Given the description of an element on the screen output the (x, y) to click on. 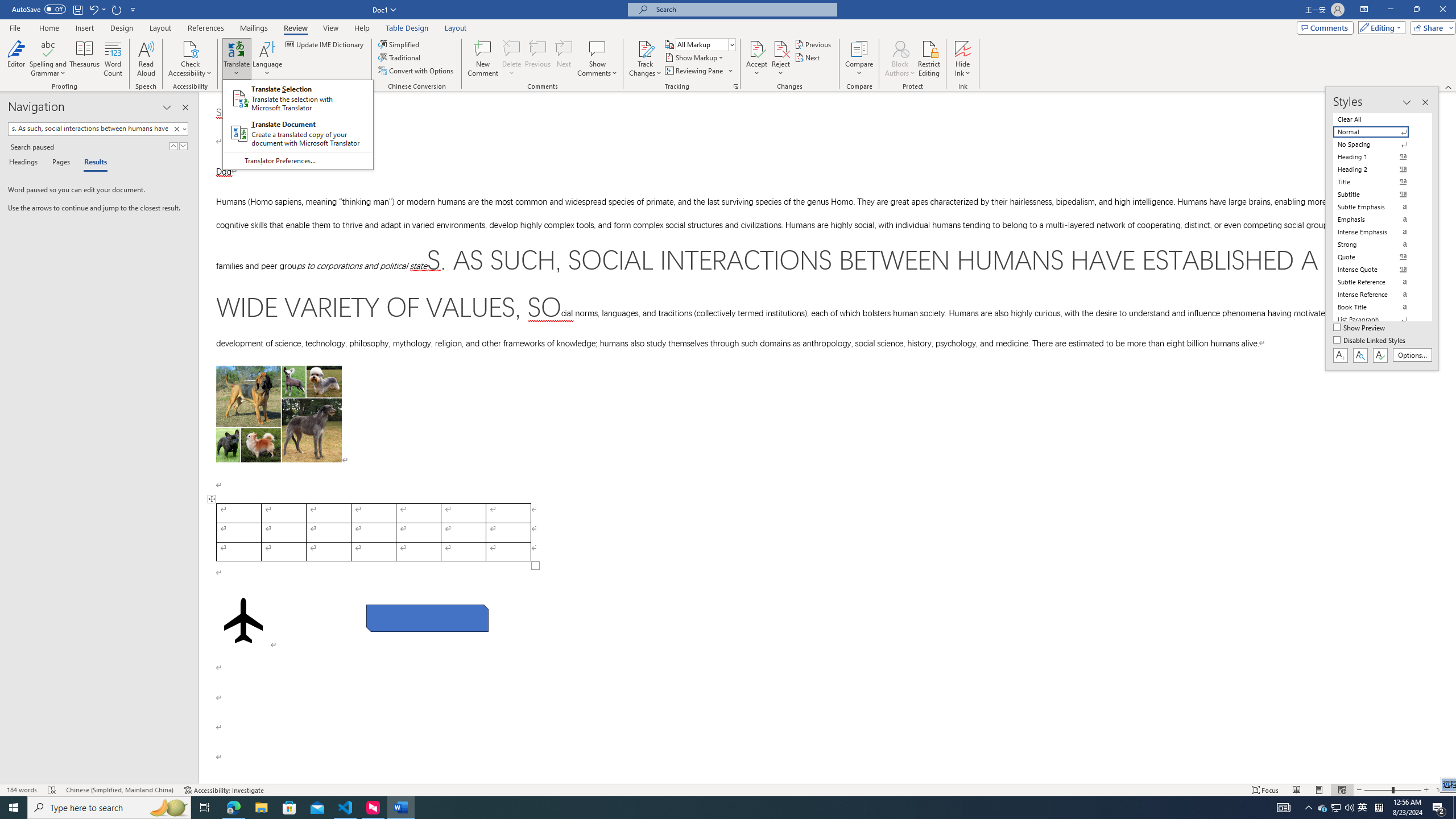
Class: MsoCommandBar (728, 789)
Reject and Move to Next (780, 48)
Check Accessibility (189, 48)
Search highlights icon opens search home window (167, 807)
Reject (780, 58)
Repeat Style (117, 9)
